Given the description of an element on the screen output the (x, y) to click on. 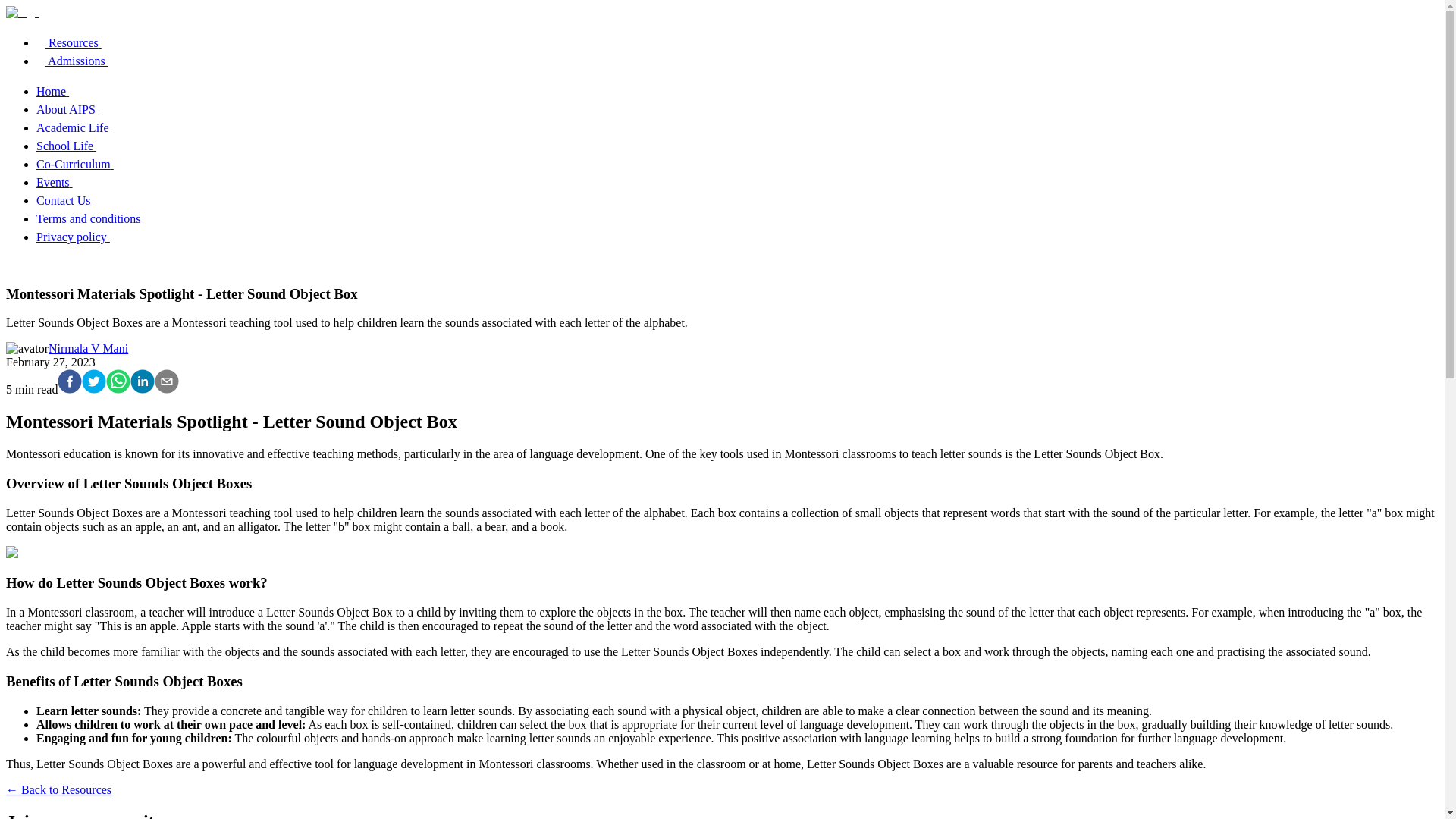
Contact Us (72, 200)
School Life (74, 145)
Nirmala V Mani (88, 348)
Privacy policy (80, 236)
Events (61, 182)
Admissions (79, 60)
Academic Life (82, 127)
Co-Curriculum (82, 164)
Resources (76, 42)
Home (60, 91)
About AIPS (74, 109)
Terms and conditions (97, 218)
